Given the description of an element on the screen output the (x, y) to click on. 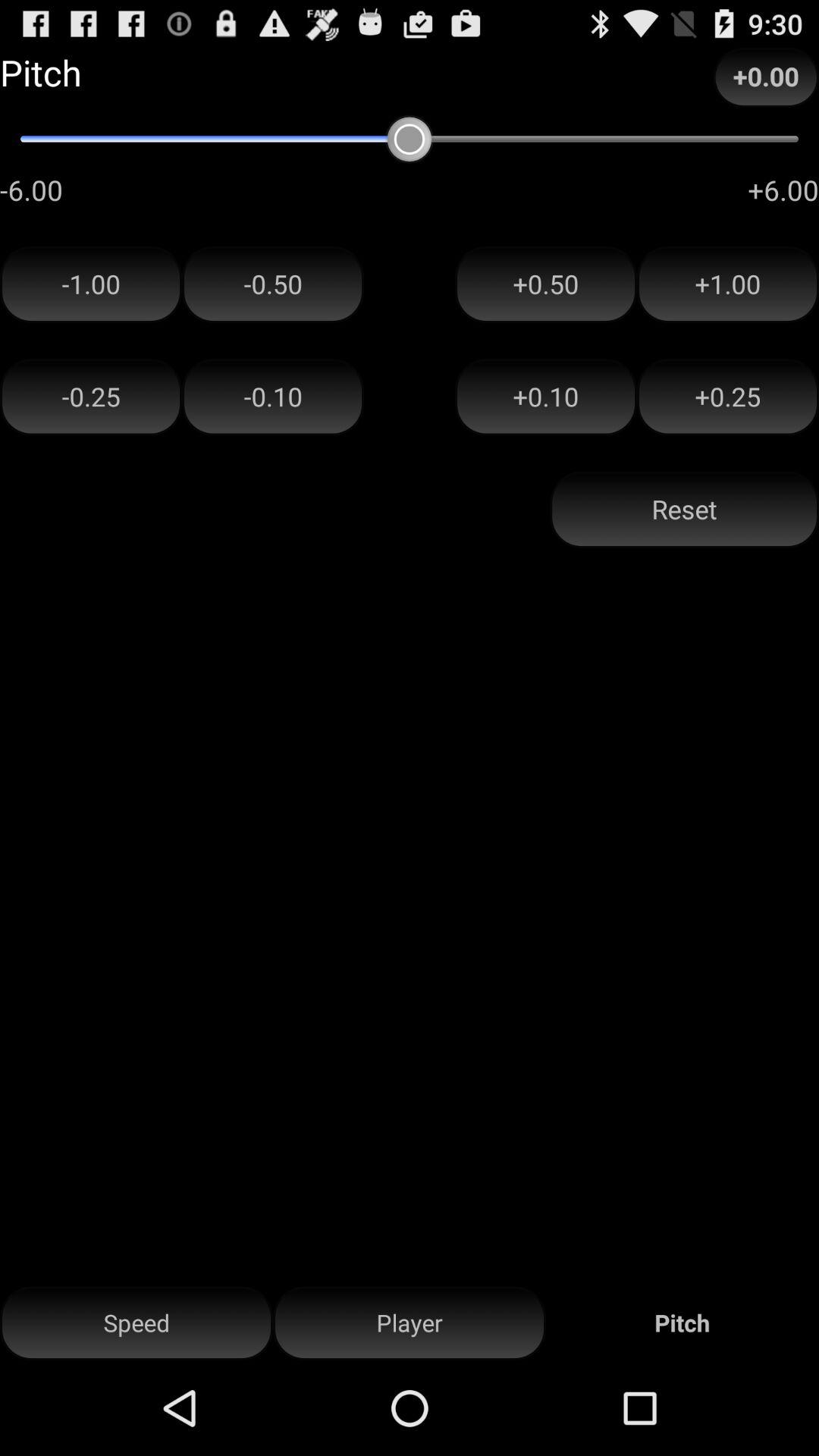
turn off the button to the right of speed icon (409, 1323)
